Given the description of an element on the screen output the (x, y) to click on. 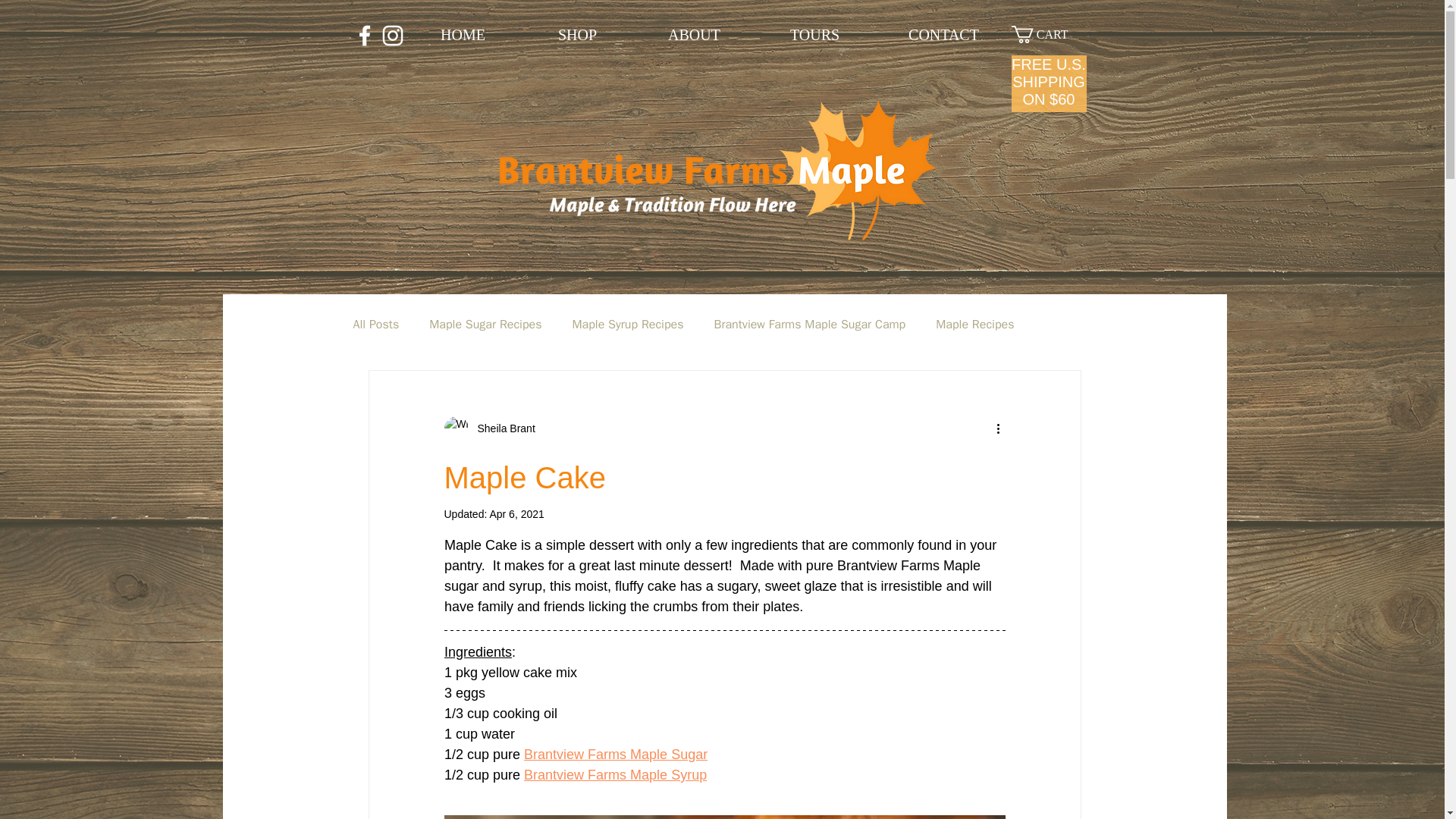
Apr 6, 2021 (516, 513)
Sheila Brant (501, 427)
Maple Recipes (974, 324)
CONTACT (944, 34)
Brantview Farms Maple Sugar (615, 754)
Maple Syrup Recipes (627, 324)
HOME (462, 34)
Maple Sugar Recipes (485, 324)
CART (1048, 34)
Brantview Farms Maple Syrup (615, 774)
